Given the description of an element on the screen output the (x, y) to click on. 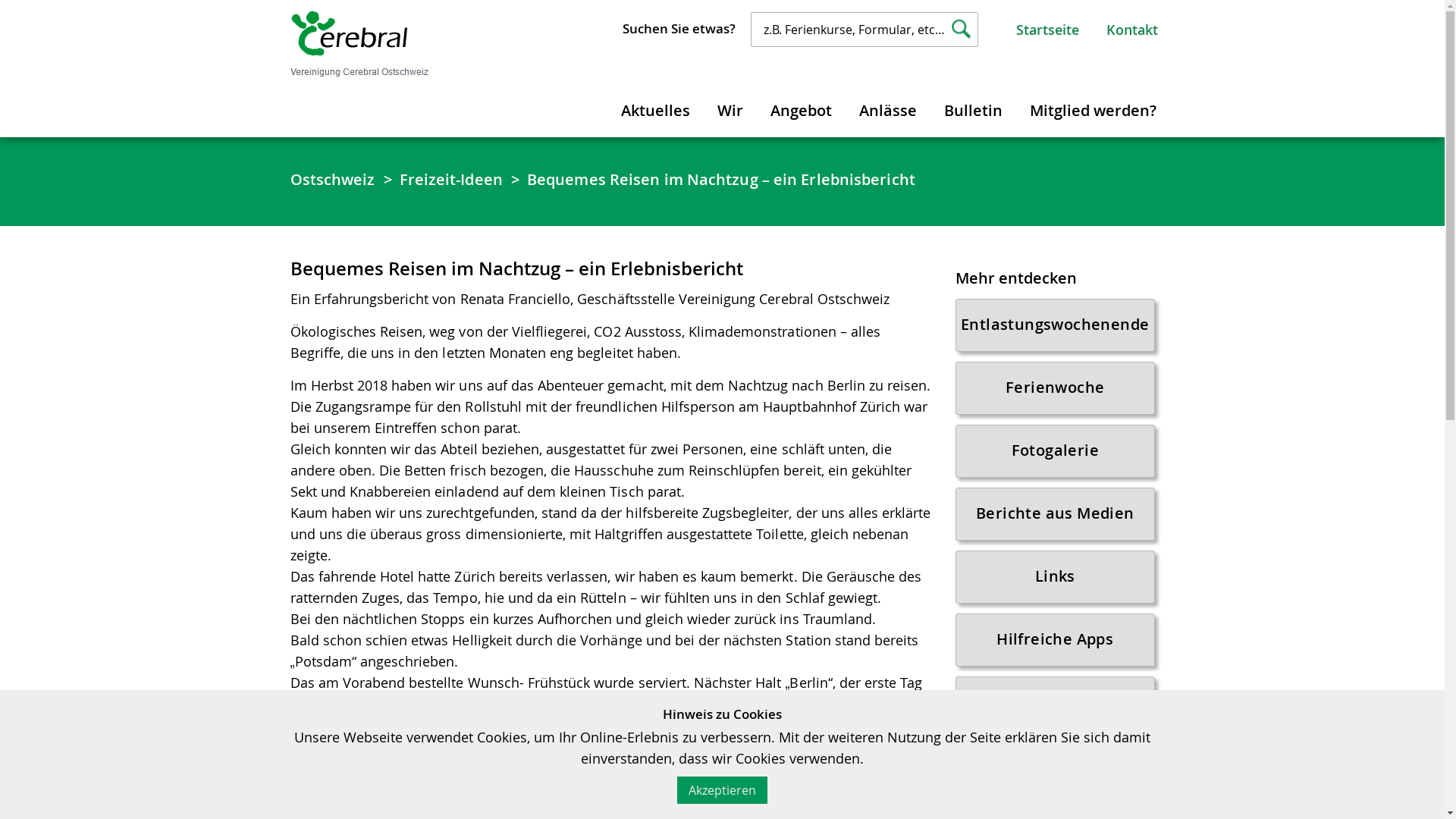
Spenden Element type: text (1054, 765)
Ferienwoche Element type: text (1054, 387)
Hilfreiche Apps Element type: text (1054, 639)
Mitglied werden? Element type: text (1092, 107)
Ostschweiz Element type: text (331, 179)
Startseite Element type: text (1047, 29)
Bulletin Element type: text (973, 107)
Links Element type: text (1054, 576)
Akzeptieren Element type: text (722, 789)
Angebot Element type: text (800, 107)
Freizeit-Ideen Element type: text (1054, 702)
Freizeit-Ideen Element type: text (450, 179)
Aktuelles Element type: text (655, 107)
Berichte aus Medien Element type: text (1054, 513)
Kontakt Element type: text (1131, 29)
Wir Element type: text (729, 107)
Fotogalerie Element type: text (1054, 450)
Entlastungswochenende Element type: text (1054, 324)
